Given the description of an element on the screen output the (x, y) to click on. 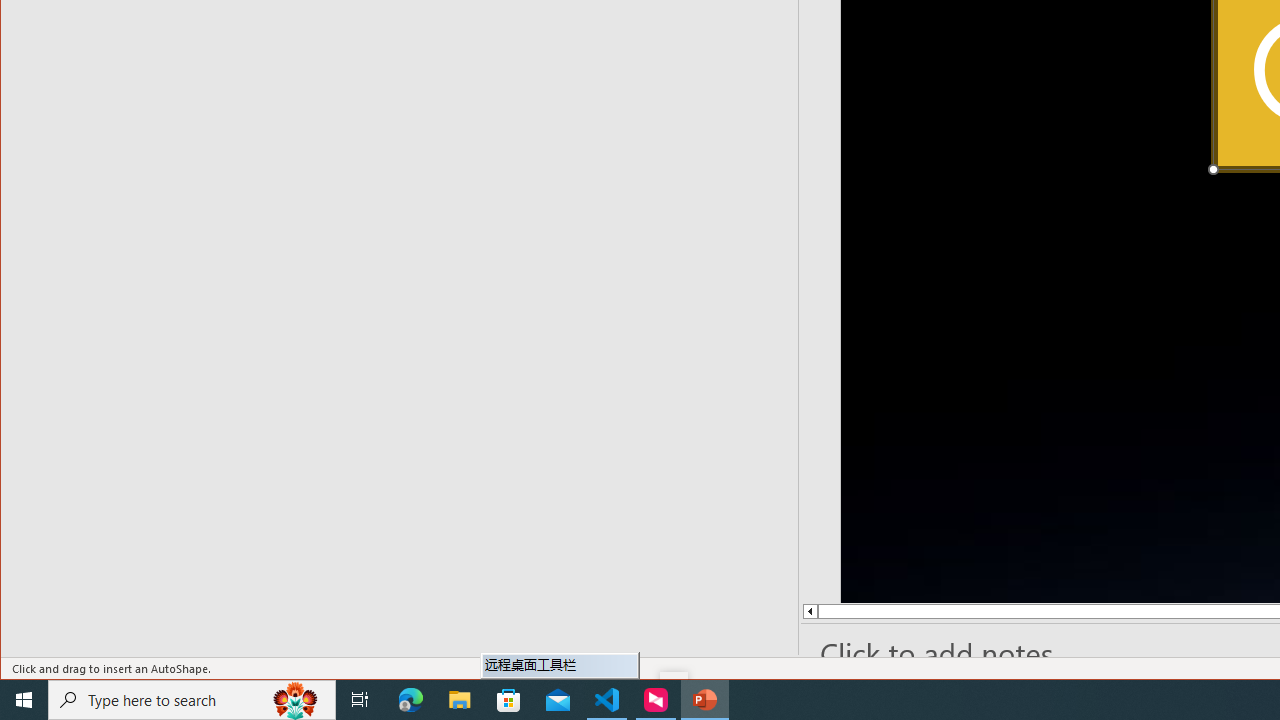
Microsoft Edge (411, 699)
